Given the description of an element on the screen output the (x, y) to click on. 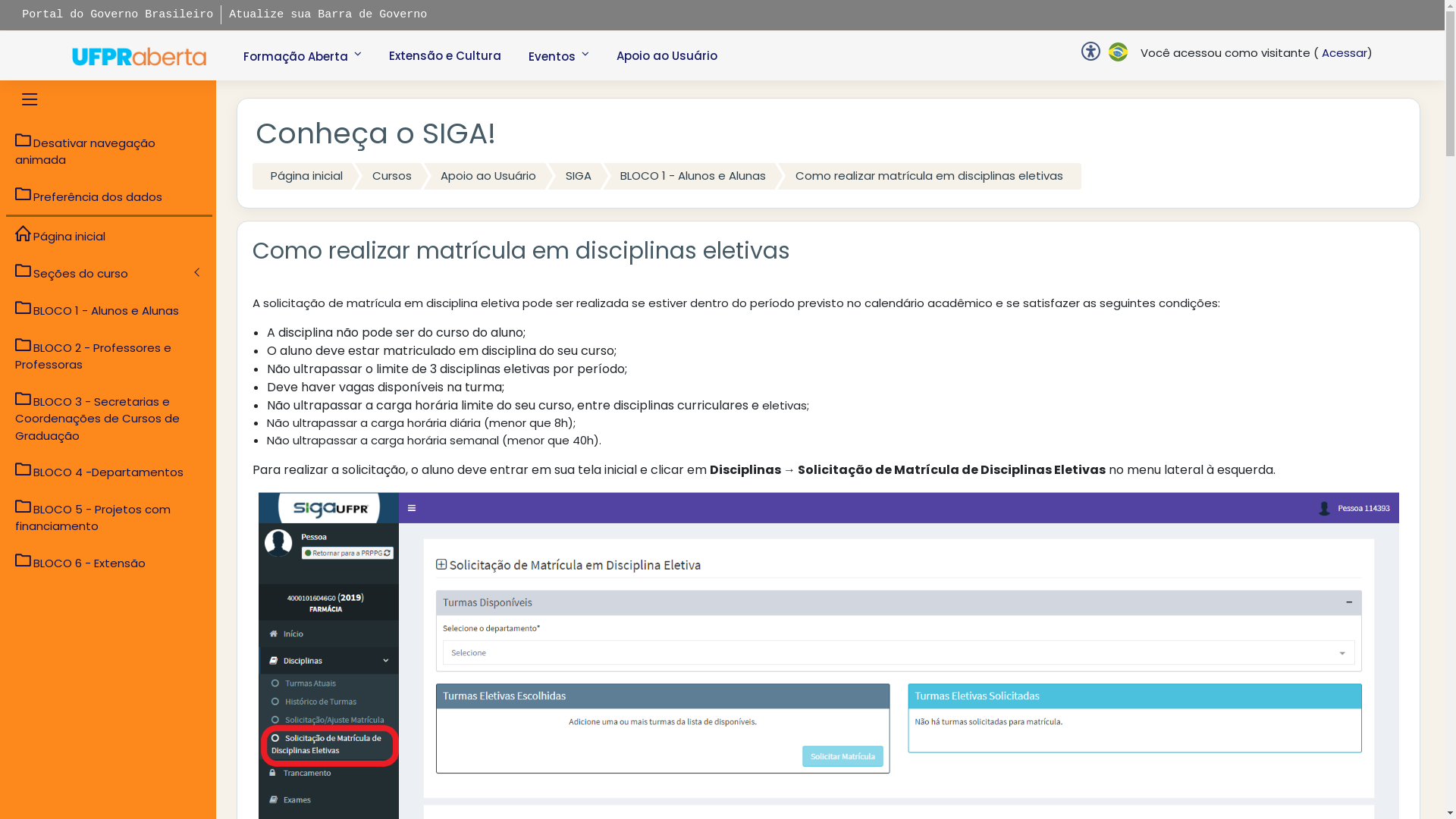
BLOCO 1 - Alunos e Alunas Element type: text (109, 310)
BLOCO 1 - Alunos e Alunas Element type: text (689, 176)
Portal do Governo Brasileiro Element type: text (117, 14)
Acessar Element type: text (1342, 52)
SIGA Element type: text (574, 176)
Eventos Element type: text (558, 55)
BLOCO 5 - Projetos com financiamento Element type: text (109, 516)
BLOCO 2 - Professores e Professoras Element type: text (109, 355)
Painel lateral Element type: text (27, 100)
Atualize sua Barra de Governo Element type: text (327, 14)
Cursos Element type: text (387, 176)
BLOCO 4 -Departamentos Element type: text (109, 471)
